Given the description of an element on the screen output the (x, y) to click on. 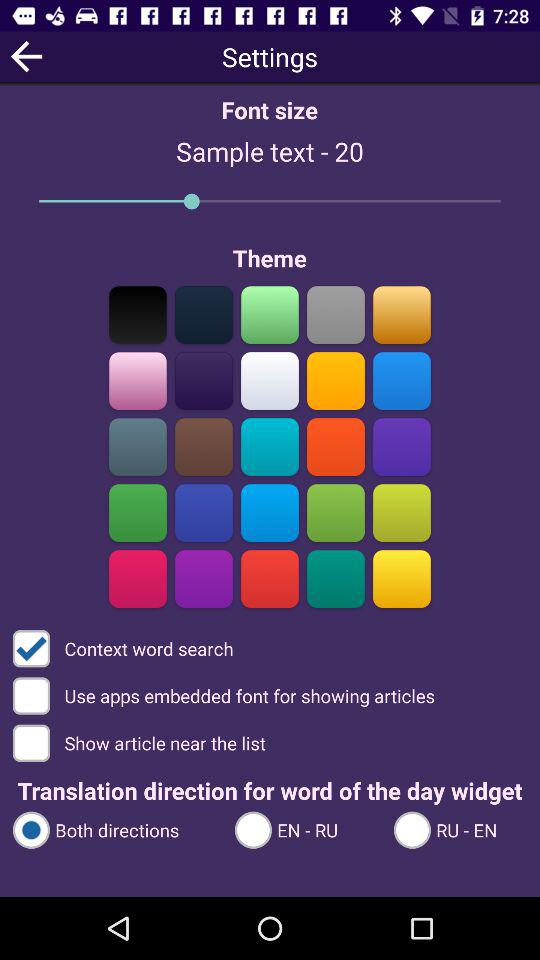
select this colour option (401, 314)
